Given the description of an element on the screen output the (x, y) to click on. 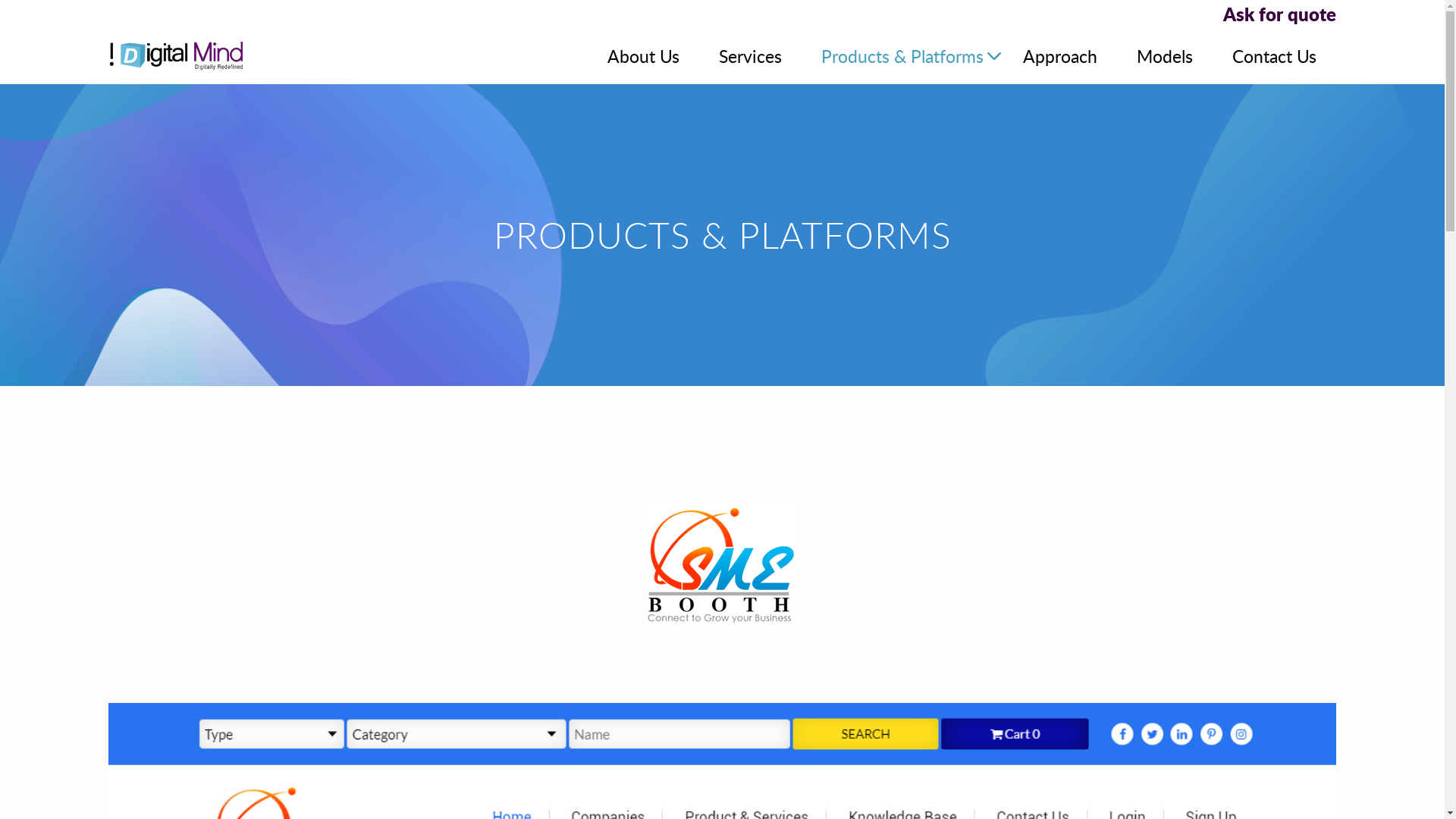
Products & Platforms Element type: text (902, 55)
Models Element type: text (1164, 55)
About Us Element type: text (643, 55)
Services Element type: text (750, 55)
Approach Element type: text (1060, 55)
Contact Us Element type: text (1274, 55)
Ask for quote Element type: text (722, 14)
